Given the description of an element on the screen output the (x, y) to click on. 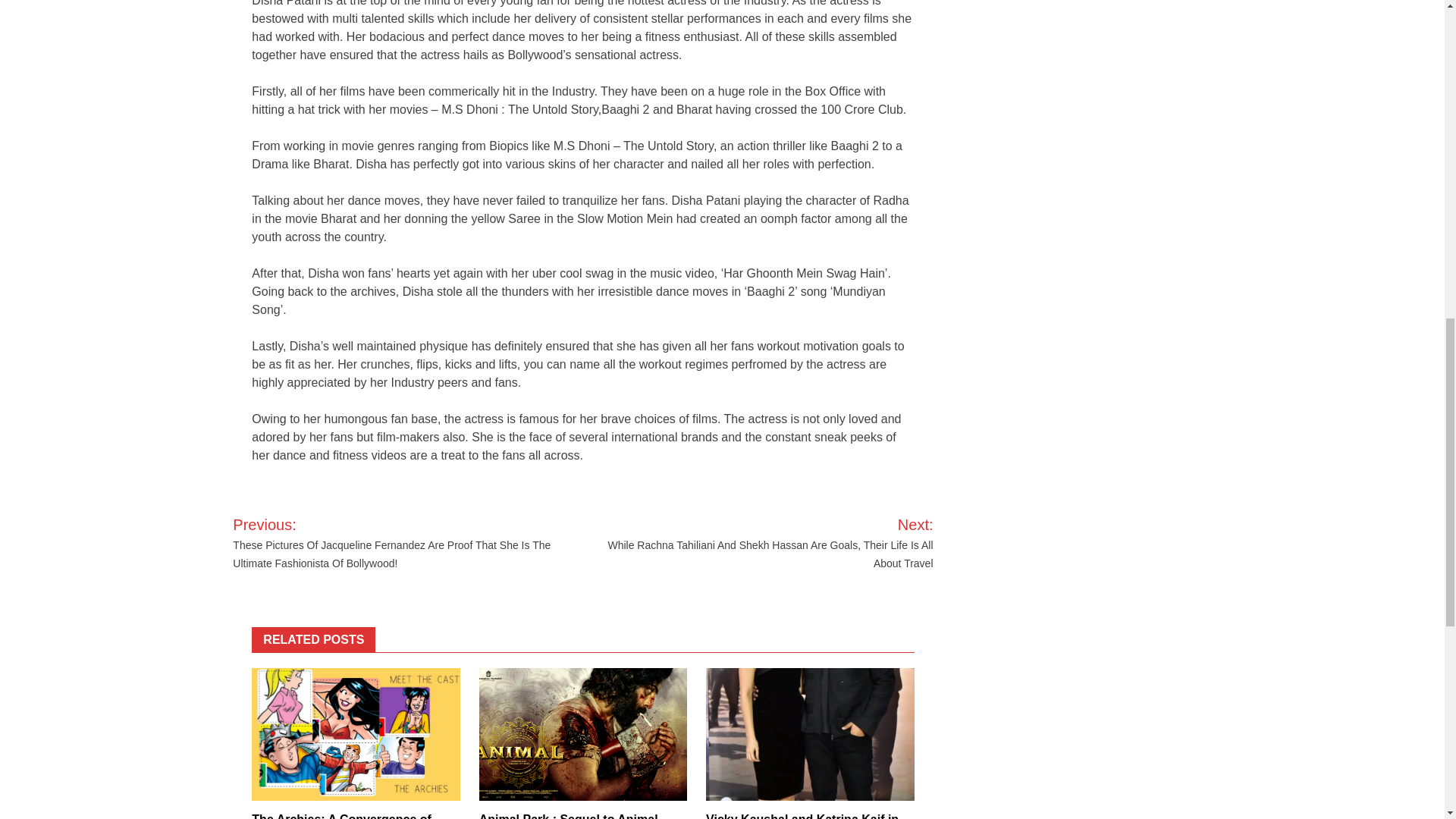
The Archies: A Convergence of Characters and Cast (340, 816)
Animal Park : Sequel to Animal, climax review. (570, 816)
